Given the description of an element on the screen output the (x, y) to click on. 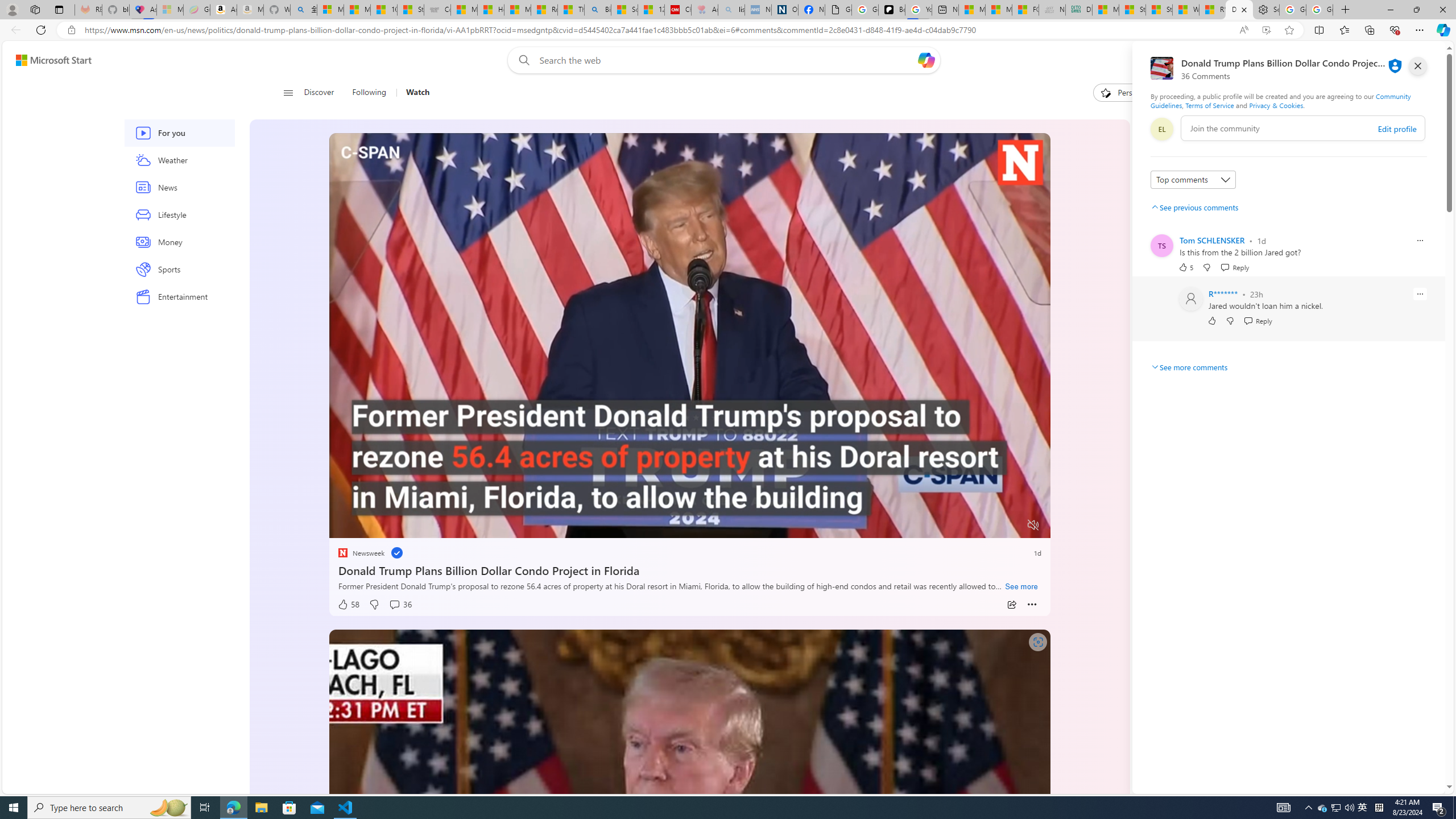
Pause (346, 525)
Share (1010, 604)
